Given the description of an element on the screen output the (x, y) to click on. 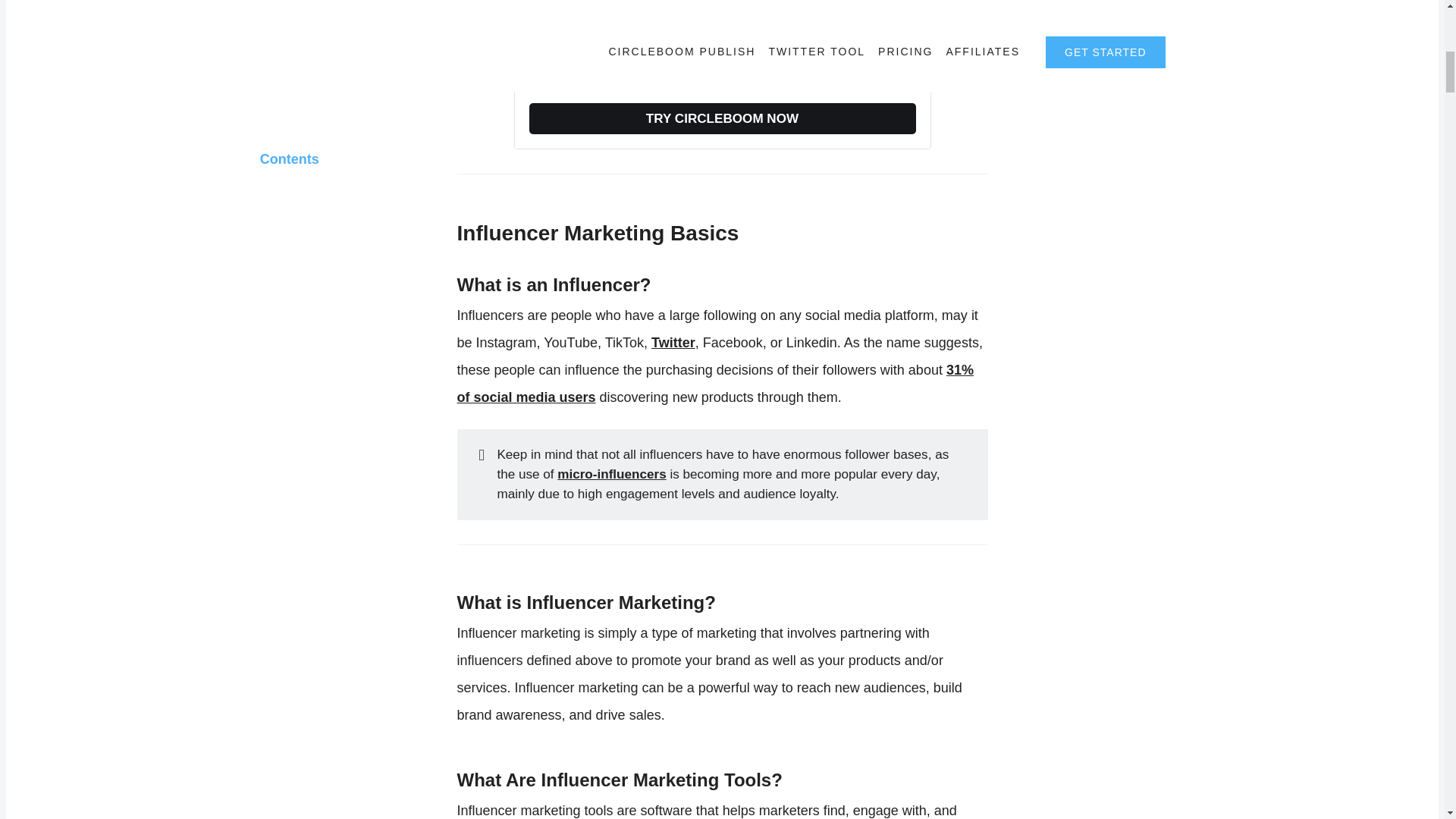
micro-influencers (611, 473)
Twitter (672, 342)
TRY CIRCLEBOOM NOW (722, 118)
